Given the description of an element on the screen output the (x, y) to click on. 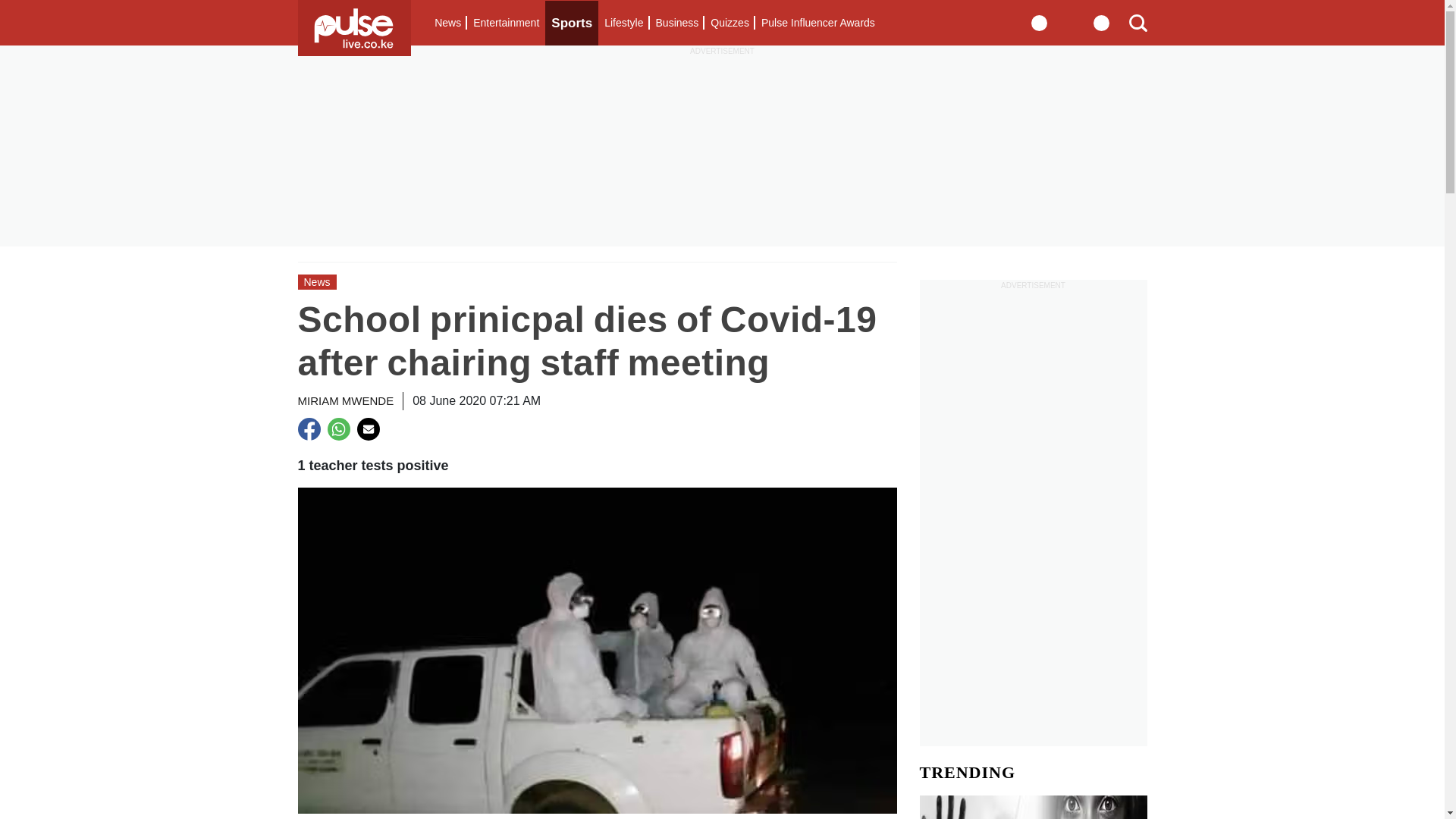
Pulse Influencer Awards (817, 22)
Quizzes (729, 22)
Entertainment (505, 22)
Sports (571, 22)
Business (676, 22)
Lifestyle (623, 22)
